Given the description of an element on the screen output the (x, y) to click on. 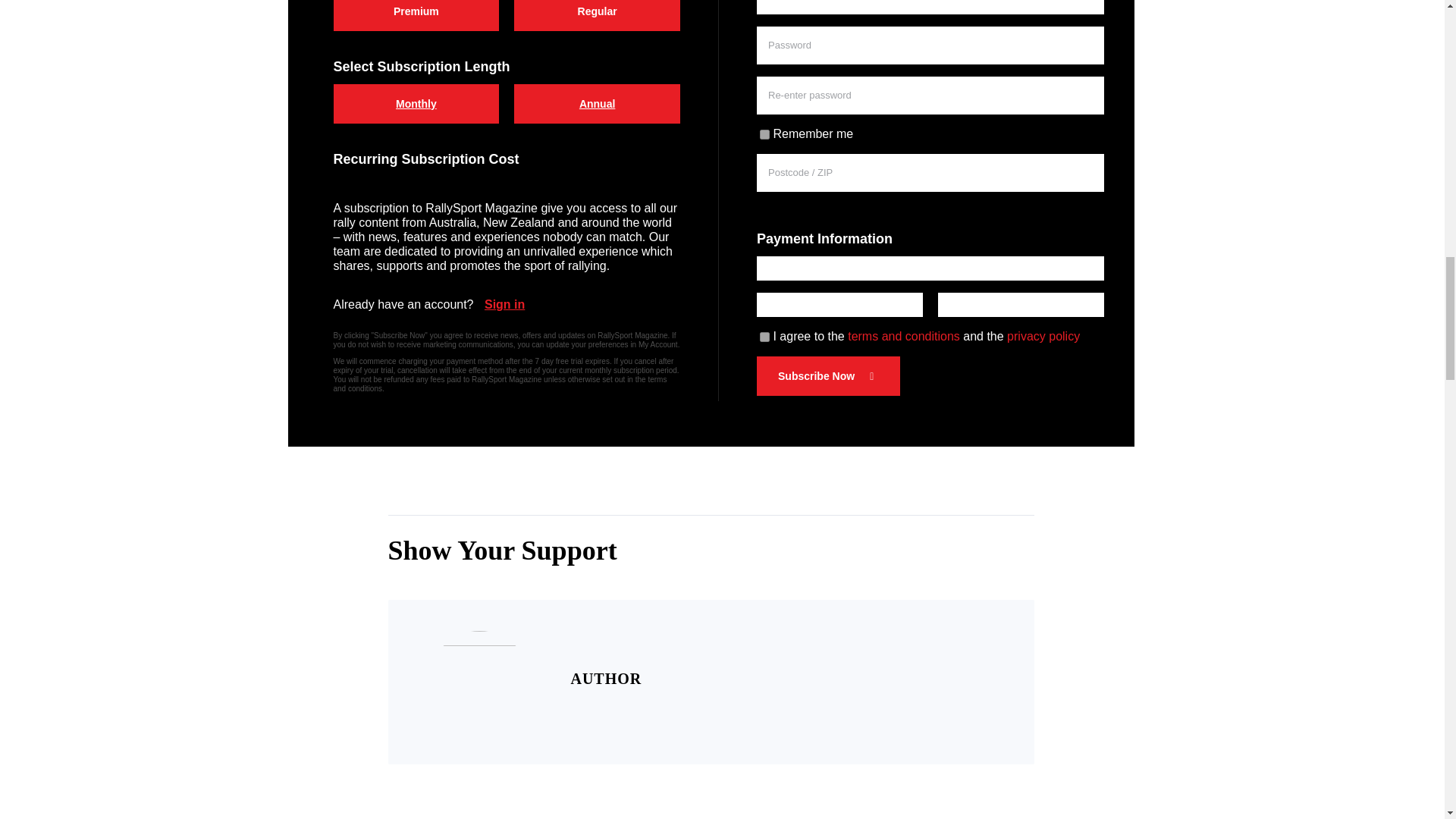
1 (765, 134)
1 (765, 337)
